Given the description of an element on the screen output the (x, y) to click on. 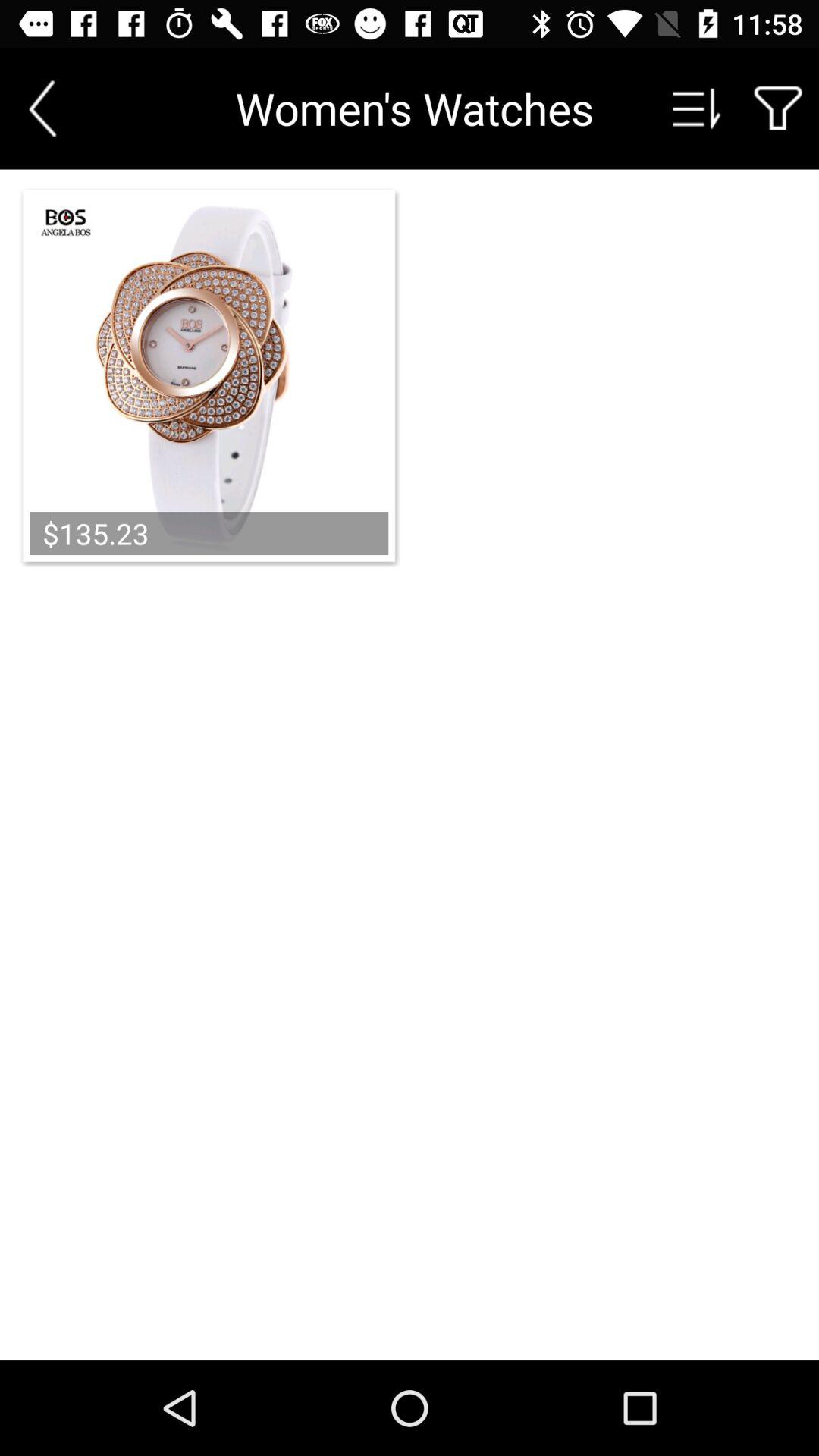
sort product by (696, 108)
